Given the description of an element on the screen output the (x, y) to click on. 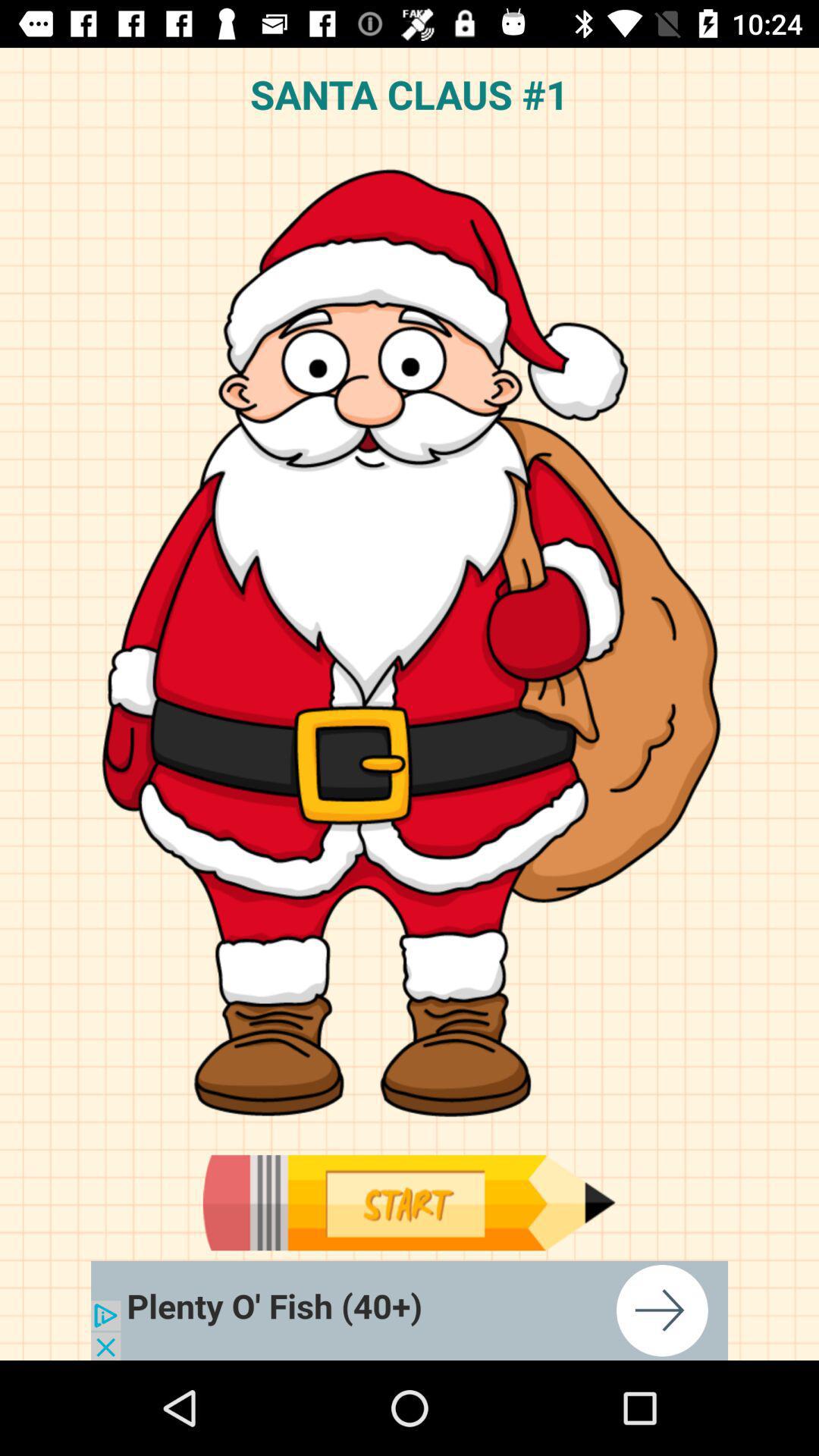
go to next (409, 1310)
